Given the description of an element on the screen output the (x, y) to click on. 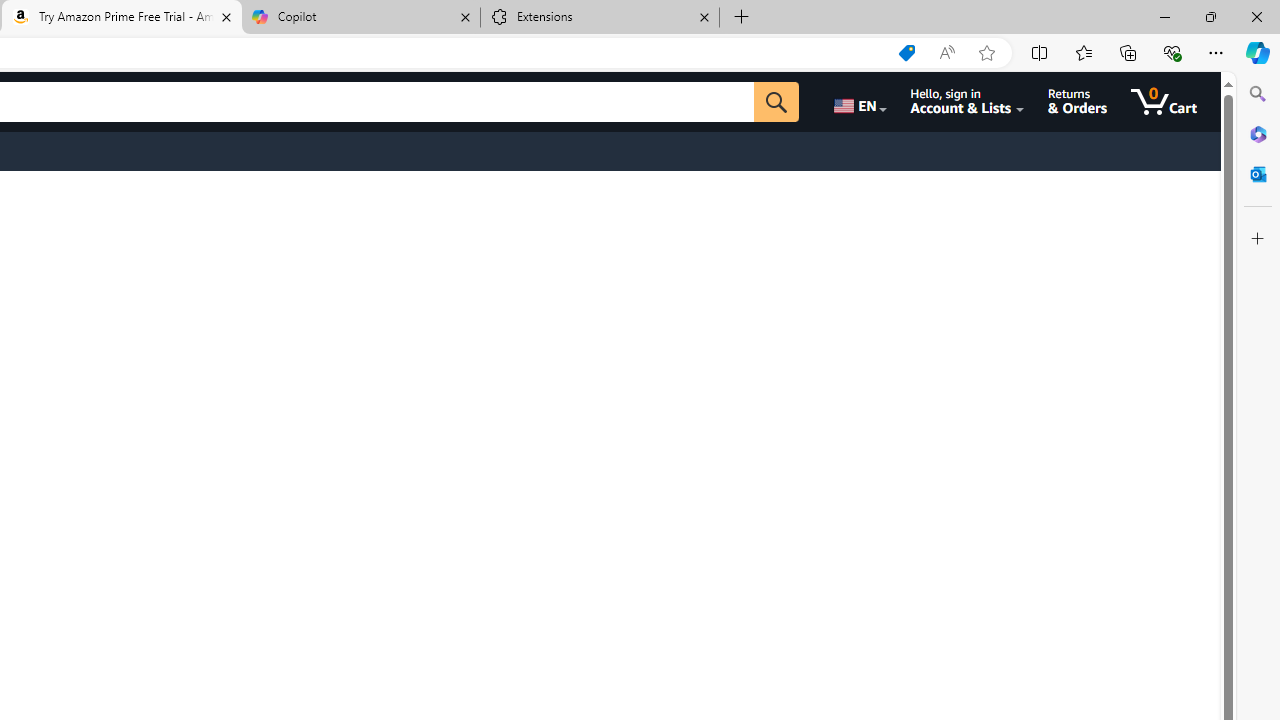
Extensions (600, 17)
0 items in cart (1163, 101)
Go (776, 101)
Copilot (360, 17)
